Given the description of an element on the screen output the (x, y) to click on. 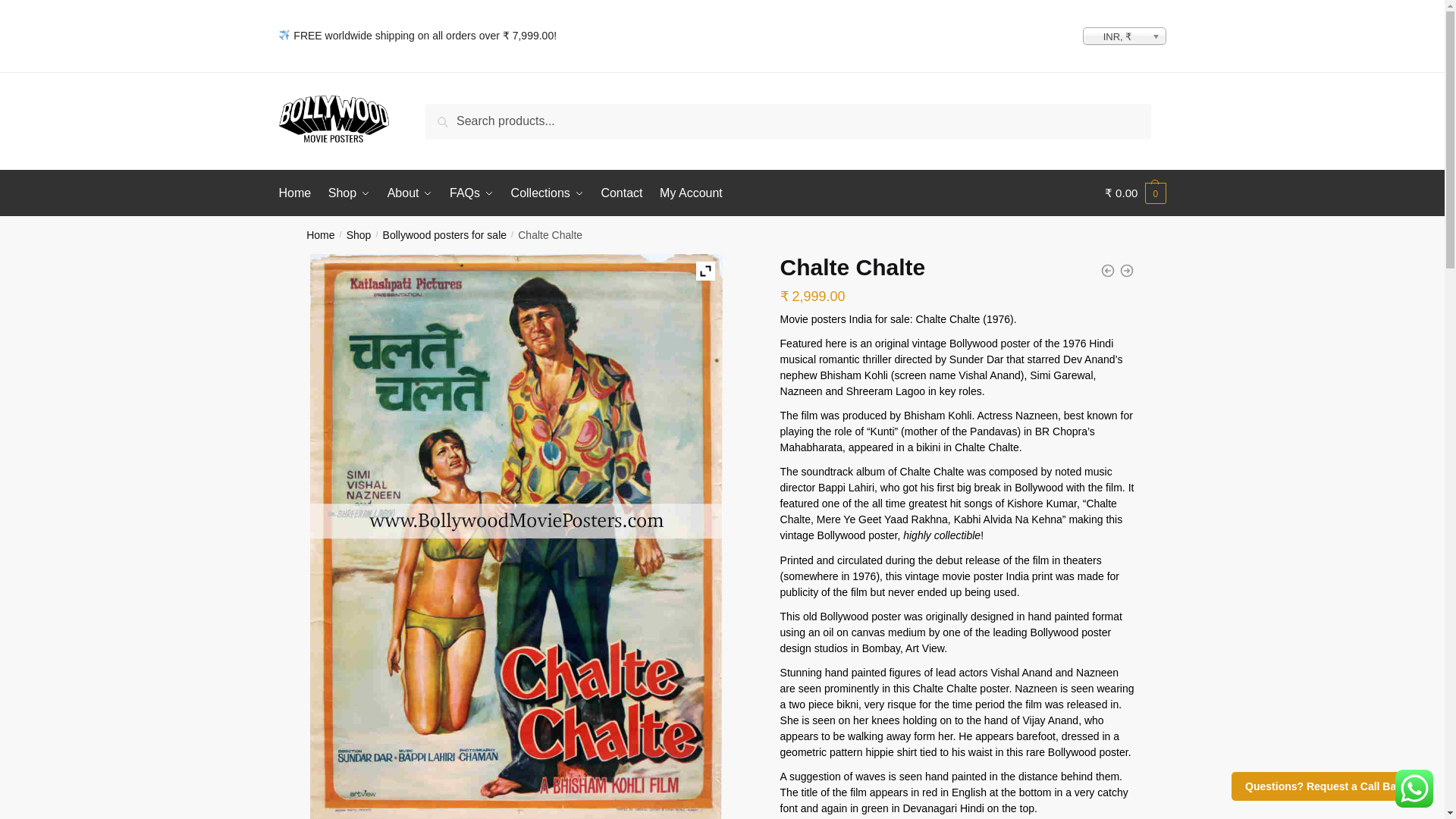
Search (449, 114)
About (409, 193)
Collections (547, 193)
FAQs (471, 193)
Shop (349, 193)
View your shopping cart (1135, 193)
